Given the description of an element on the screen output the (x, y) to click on. 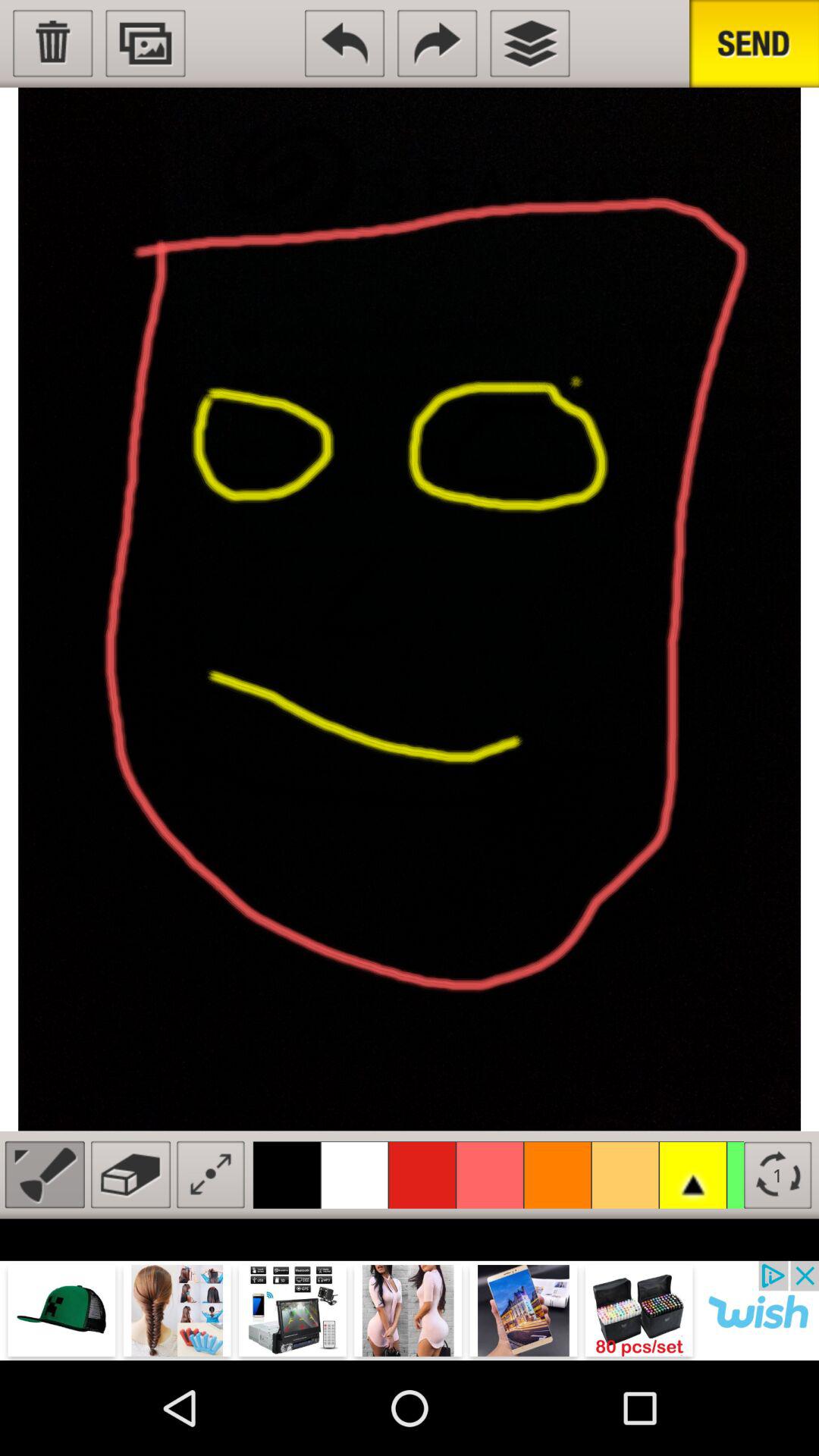
save image (145, 43)
